Given the description of an element on the screen output the (x, y) to click on. 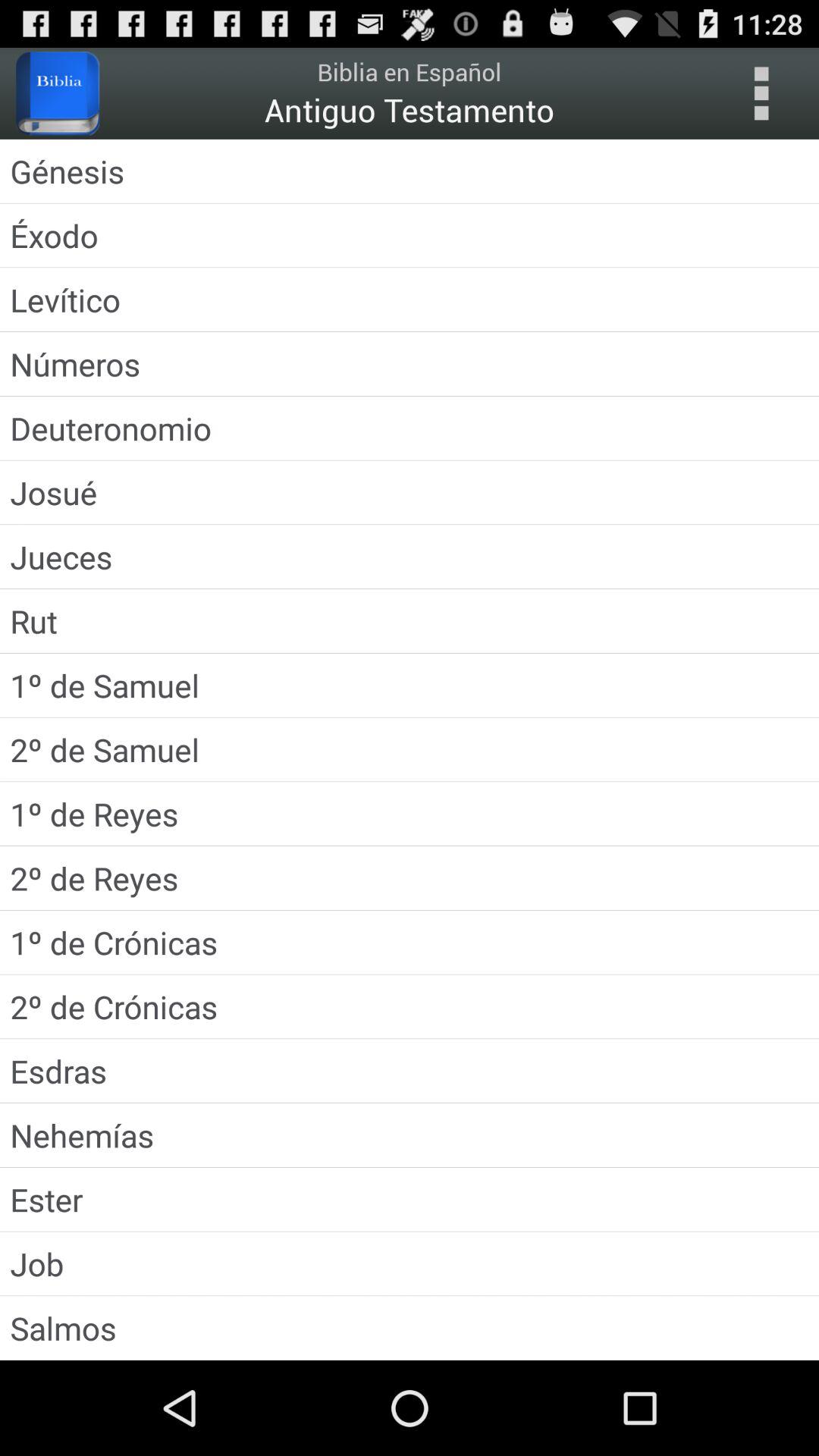
jump to rut app (409, 620)
